Given the description of an element on the screen output the (x, y) to click on. 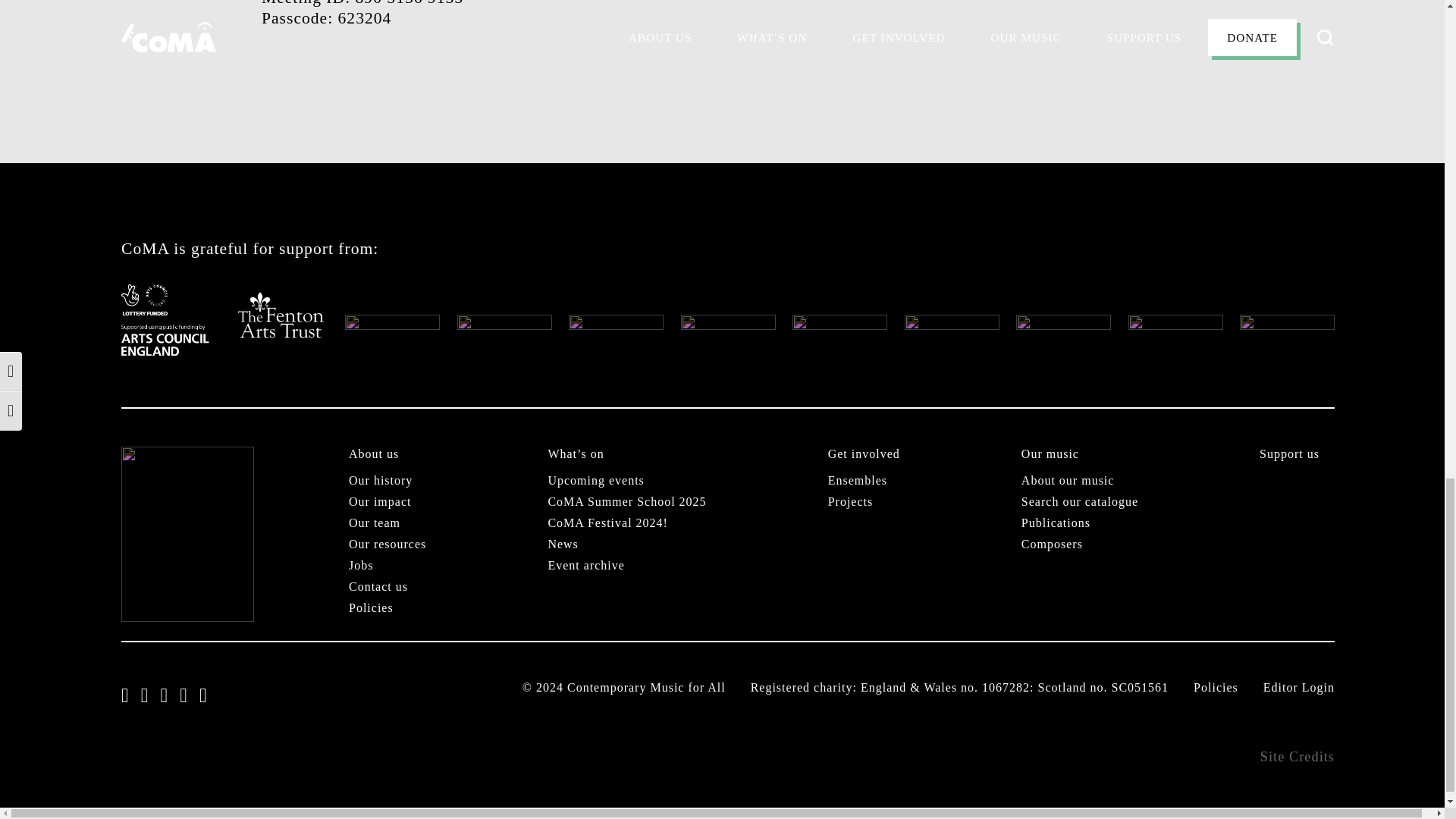
Jobs (360, 566)
Our impact (379, 503)
About us (373, 455)
Our team (374, 524)
Our history (380, 482)
Our resources (387, 545)
Contact us (378, 588)
